Given the description of an element on the screen output the (x, y) to click on. 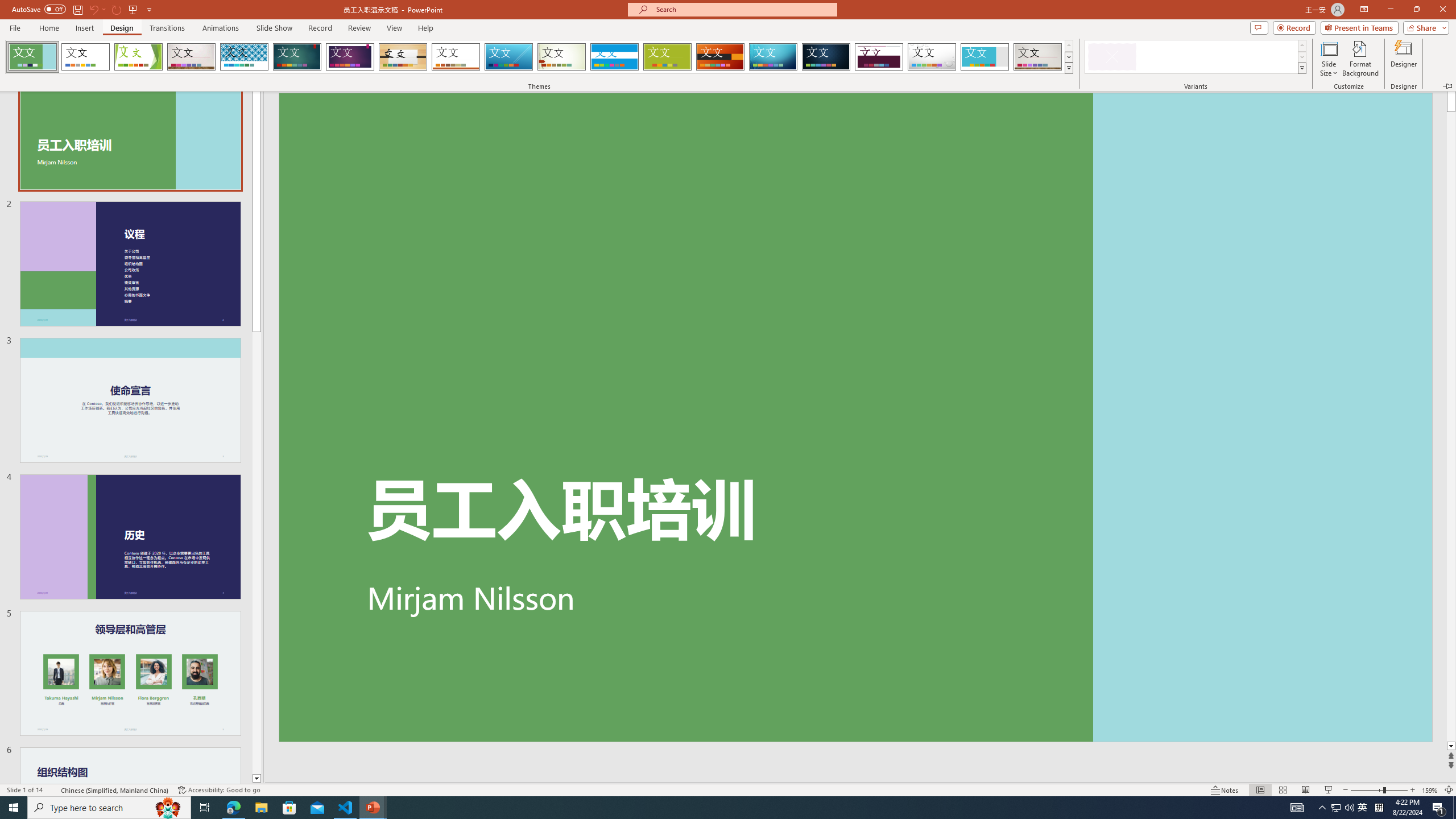
Spell Check  (52, 790)
